Given the description of an element on the screen output the (x, y) to click on. 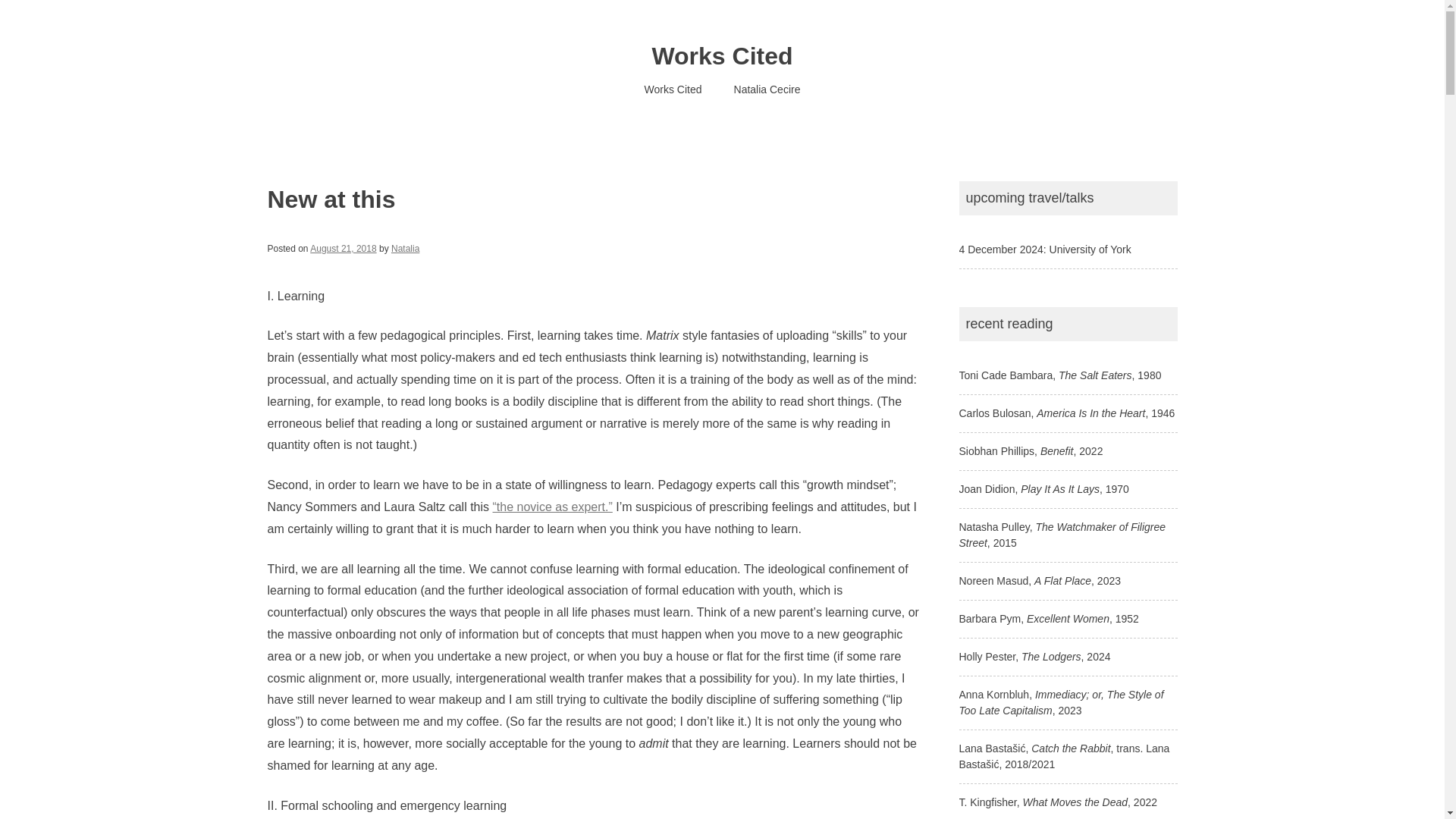
Works Cited (721, 55)
Works Cited (672, 89)
Natalia (405, 248)
Natalia Cecire (766, 89)
August 21, 2018 (342, 248)
